Given the description of an element on the screen output the (x, y) to click on. 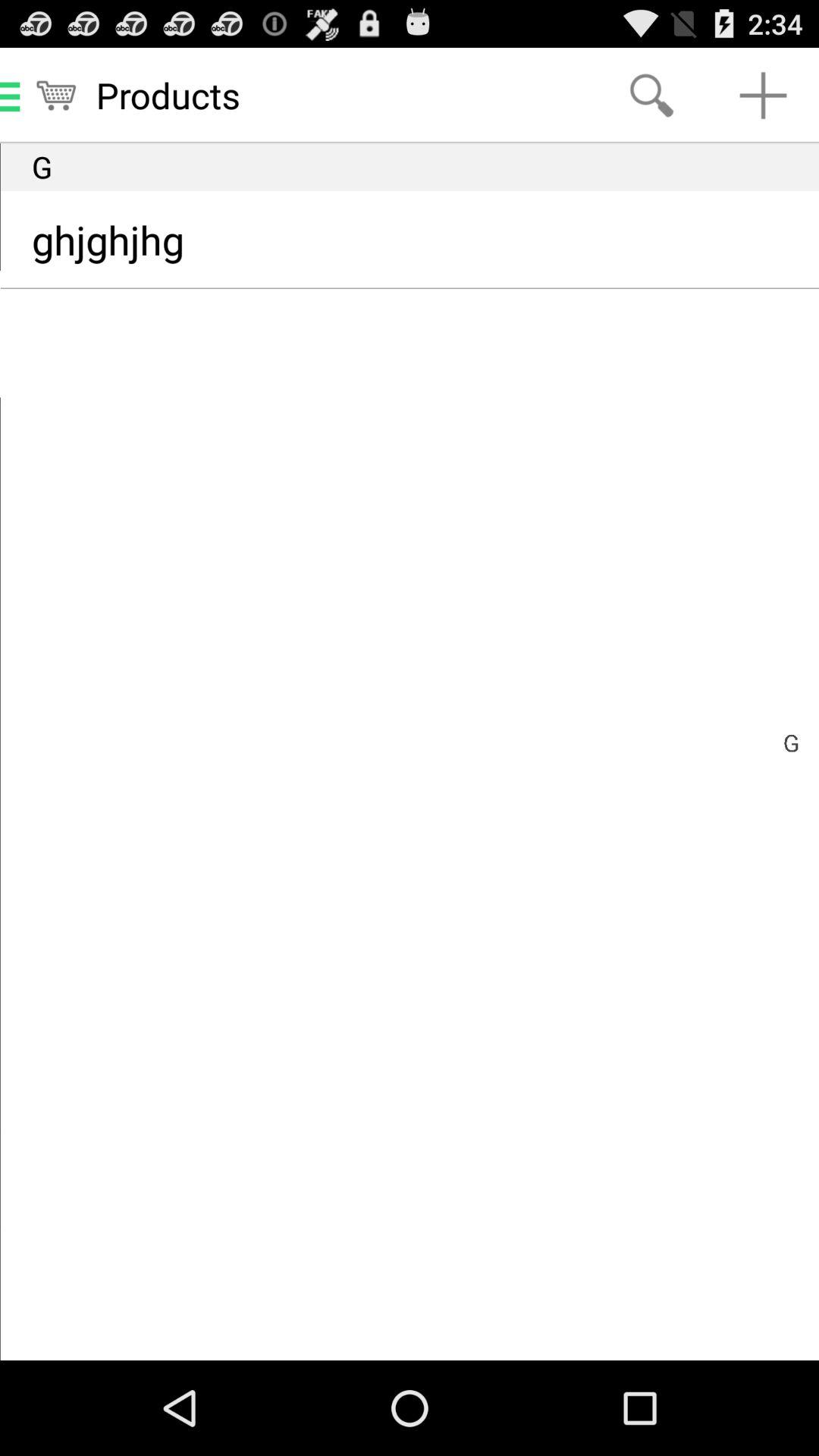
click the item to the right of products icon (651, 95)
